Given the description of an element on the screen output the (x, y) to click on. 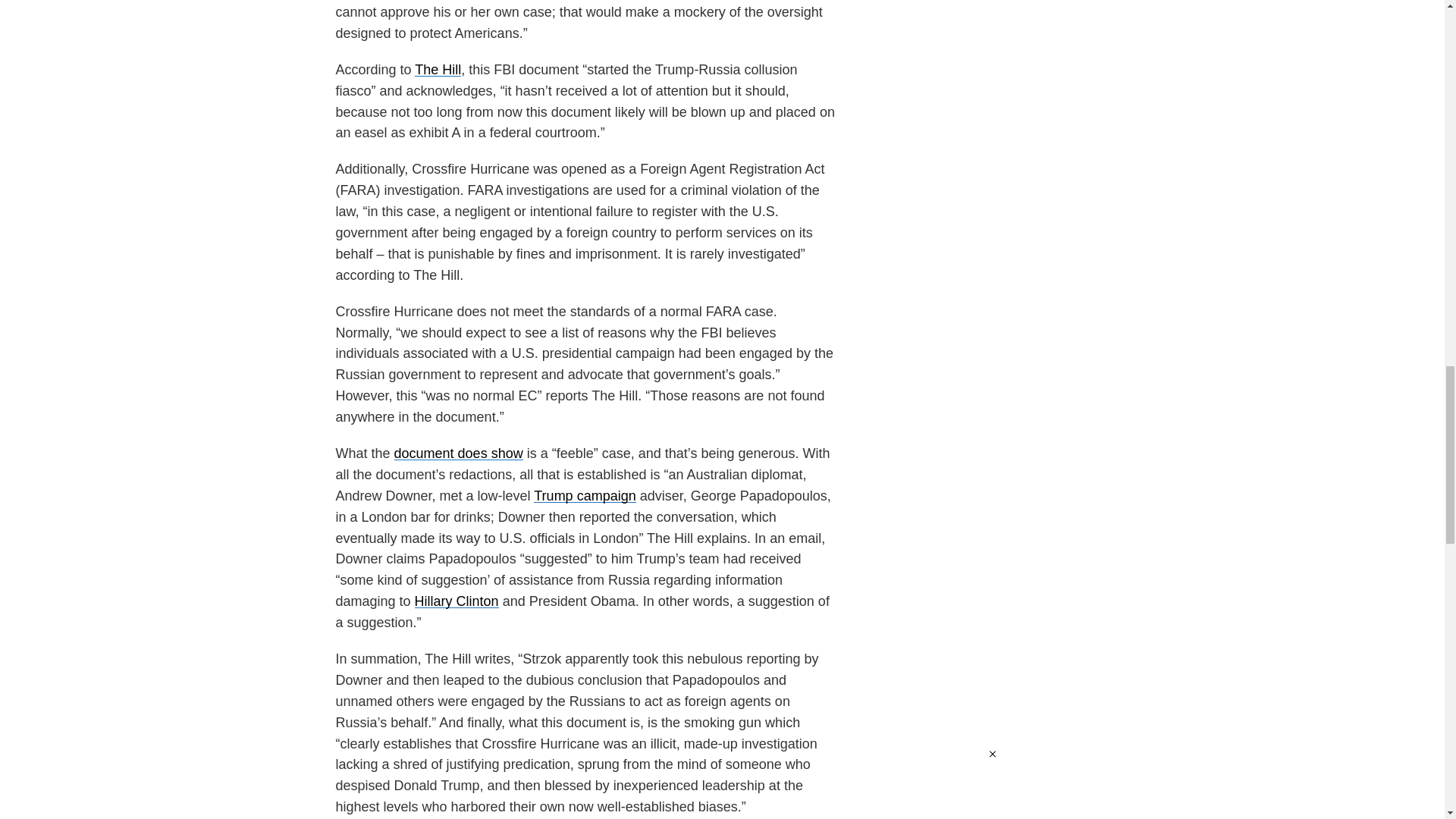
document does show (458, 453)
The Hill (437, 69)
Hillary Clinton (456, 601)
Trump campaign (584, 495)
